Given the description of an element on the screen output the (x, y) to click on. 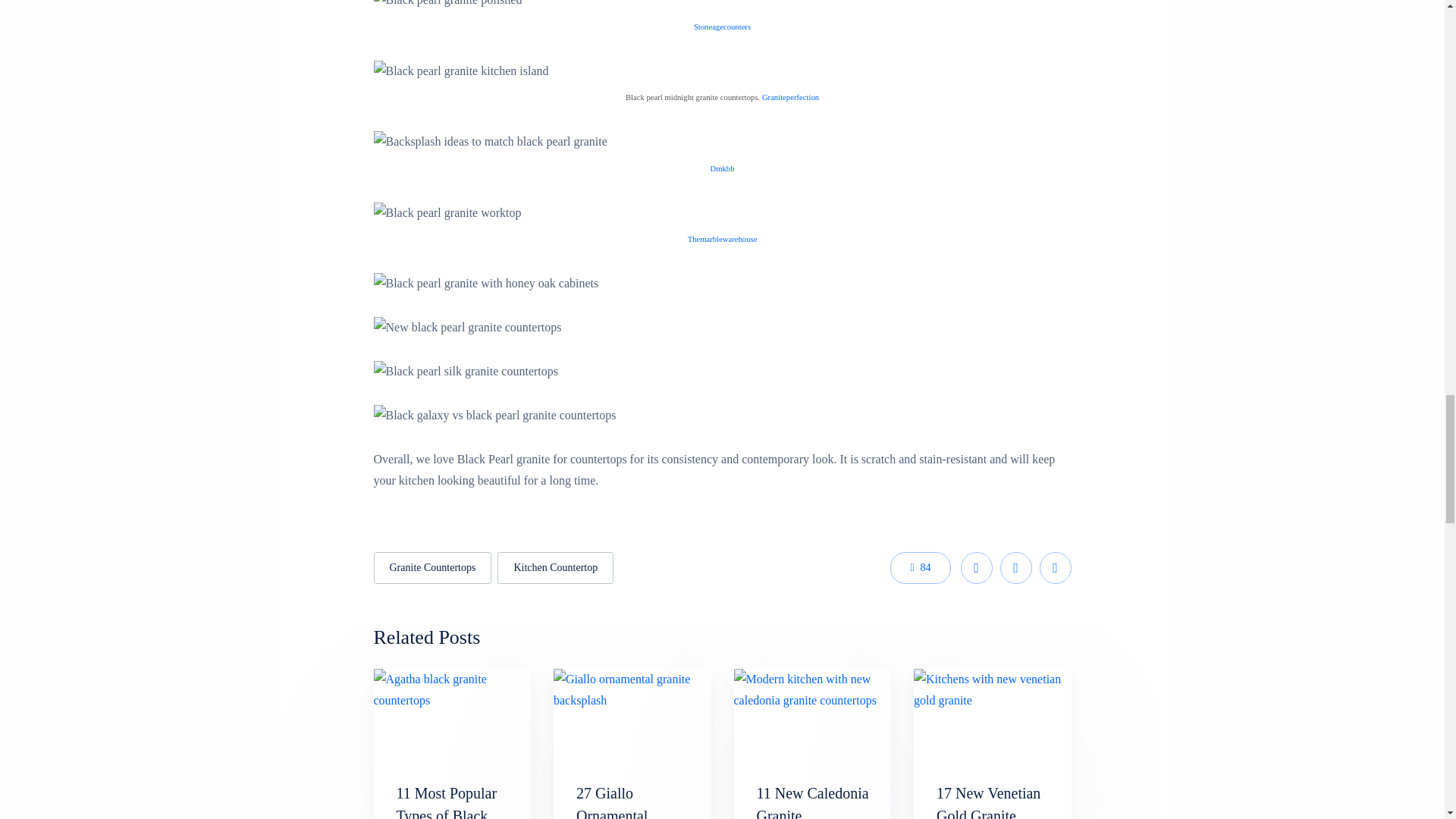
New black pearl granite countertops (466, 327)
11 Most Popular Types of Black Granite Countertops (446, 801)
11 New Caledonia Granite Countertops Ideas (813, 801)
Themarblewarehouse (722, 238)
Graniteperfection (789, 97)
Like (919, 567)
11 Most Popular Types of Black Granite Countertops (446, 801)
Stoneagecounters (722, 25)
Black pearl granite with honey oak cabinets (485, 283)
Dmkbb (722, 167)
84 (919, 567)
Granite Countertops (432, 567)
11 Most Popular Types of Black Granite Countertops (451, 714)
27 Giallo Ornamental Granite Countertops Ideas (632, 714)
17 New Venetian Gold Granite Countertops Ideas (991, 801)
